Given the description of an element on the screen output the (x, y) to click on. 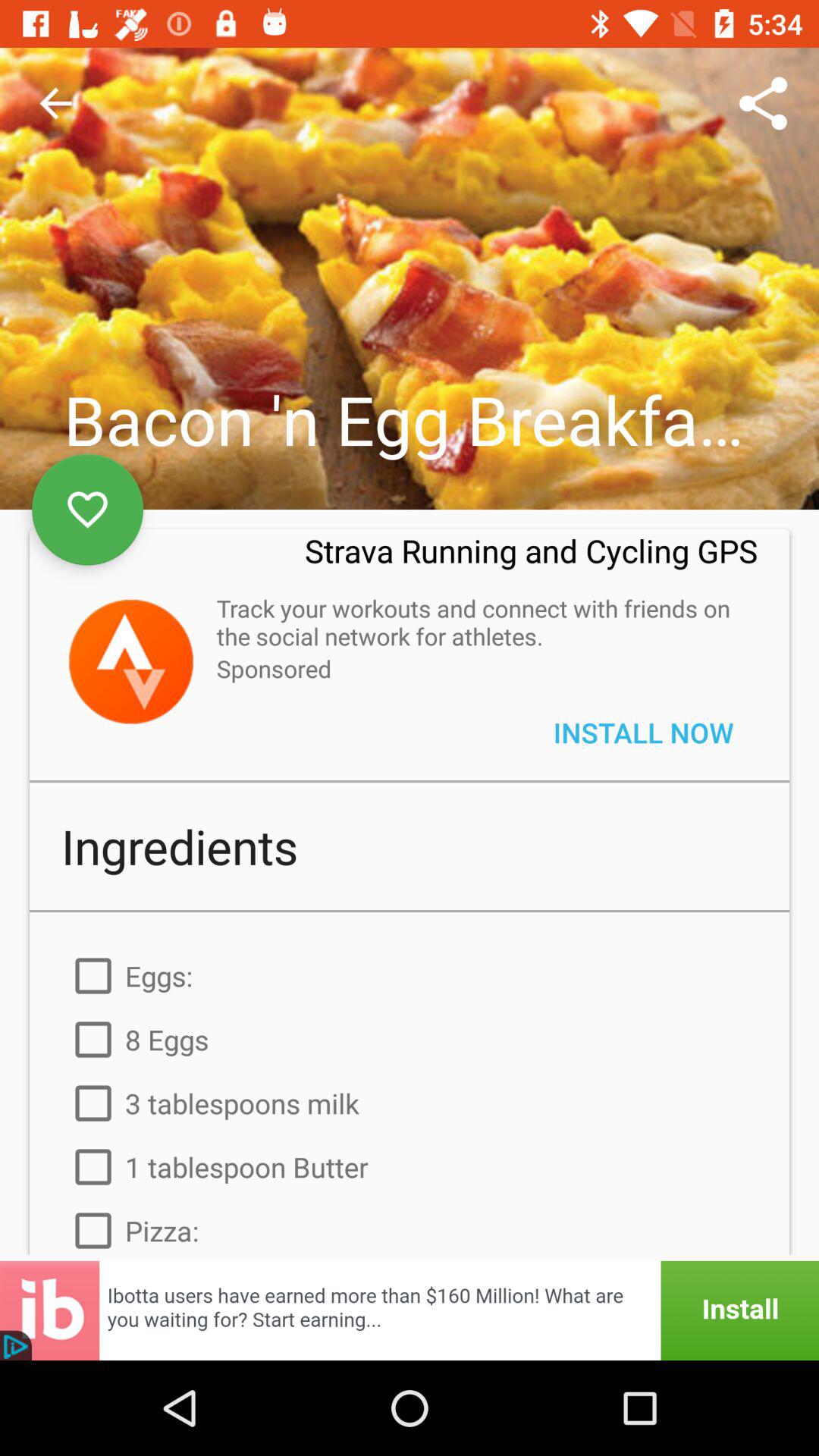
turn off the item at the top left corner (55, 103)
